Given the description of an element on the screen output the (x, y) to click on. 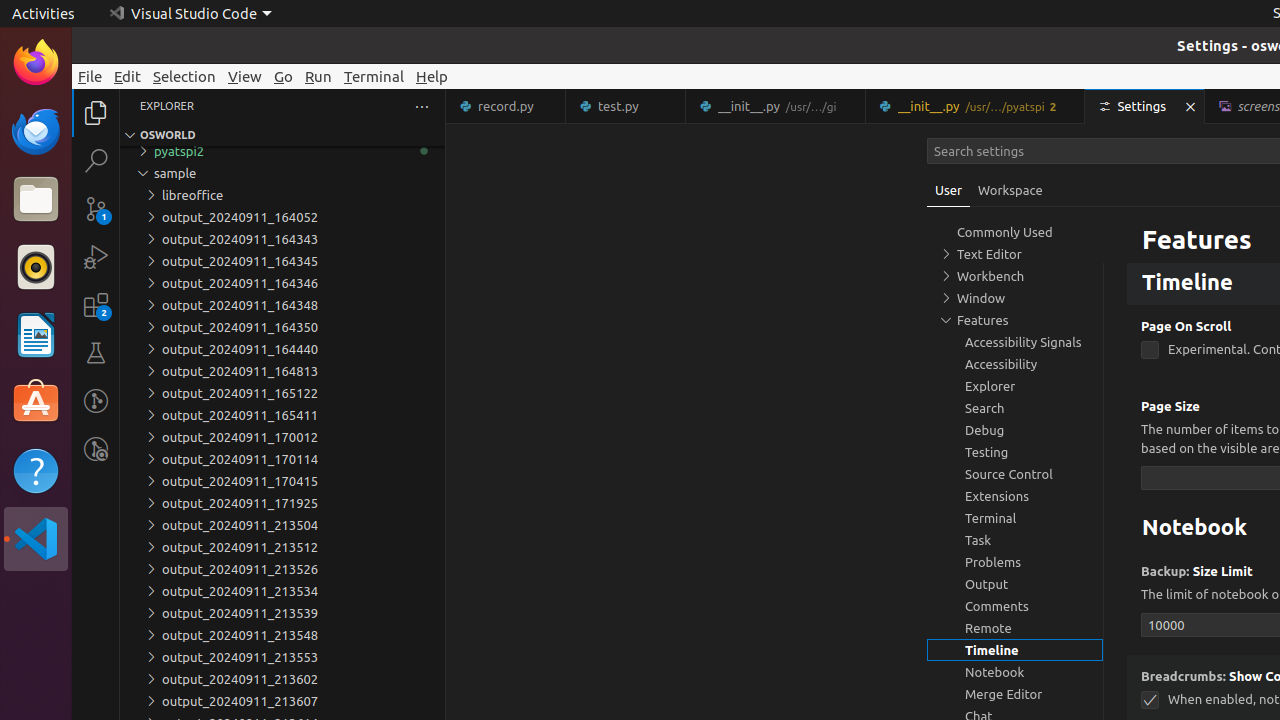
Selection Element type: push-button (184, 76)
Run Element type: push-button (318, 76)
output_20240911_170415 Element type: tree-item (282, 481)
output_20240911_164350 Element type: tree-item (282, 327)
Accessibility, group Element type: tree-item (1015, 364)
